Given the description of an element on the screen output the (x, y) to click on. 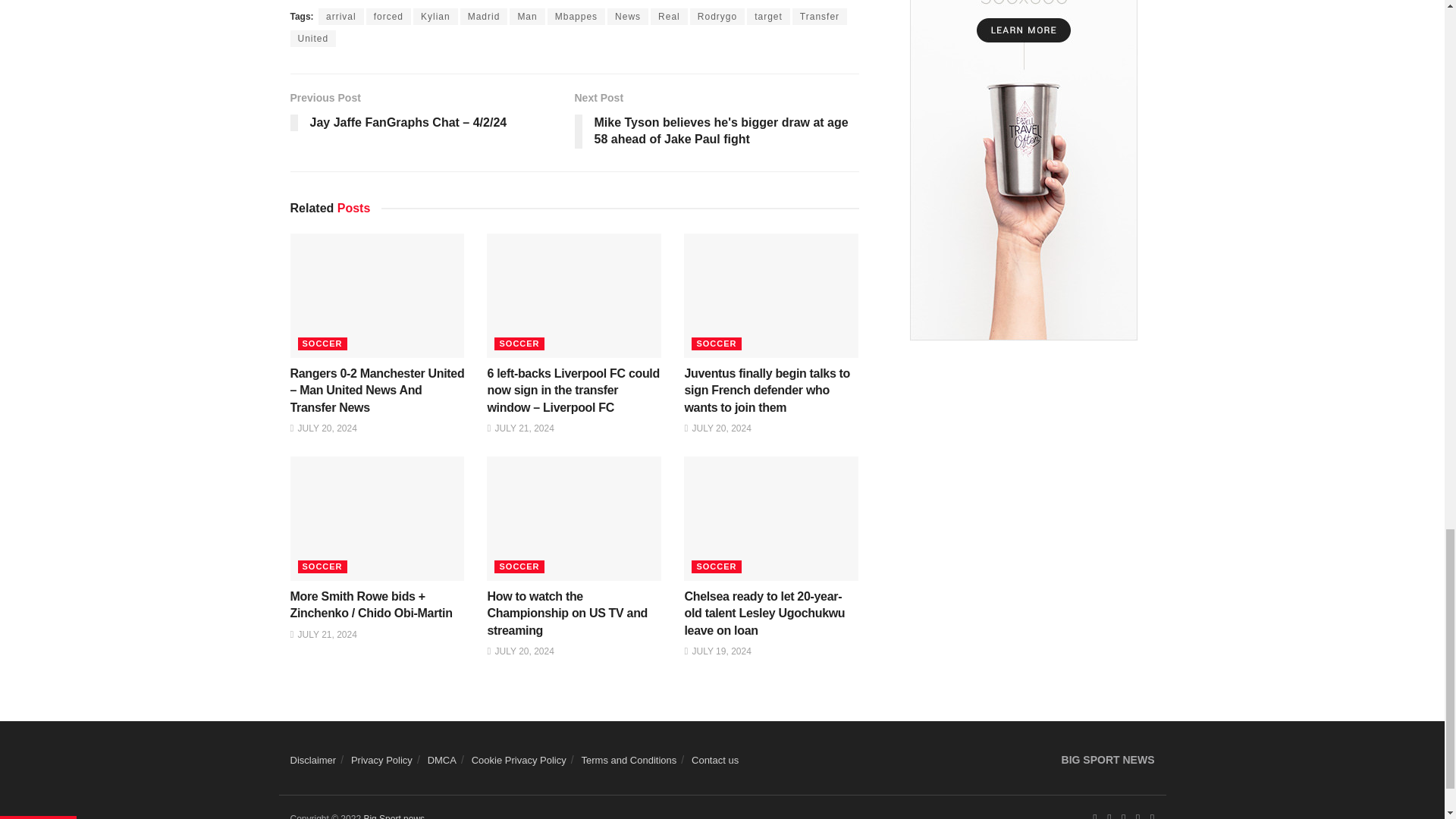
Big Sport news (393, 816)
